Given the description of an element on the screen output the (x, y) to click on. 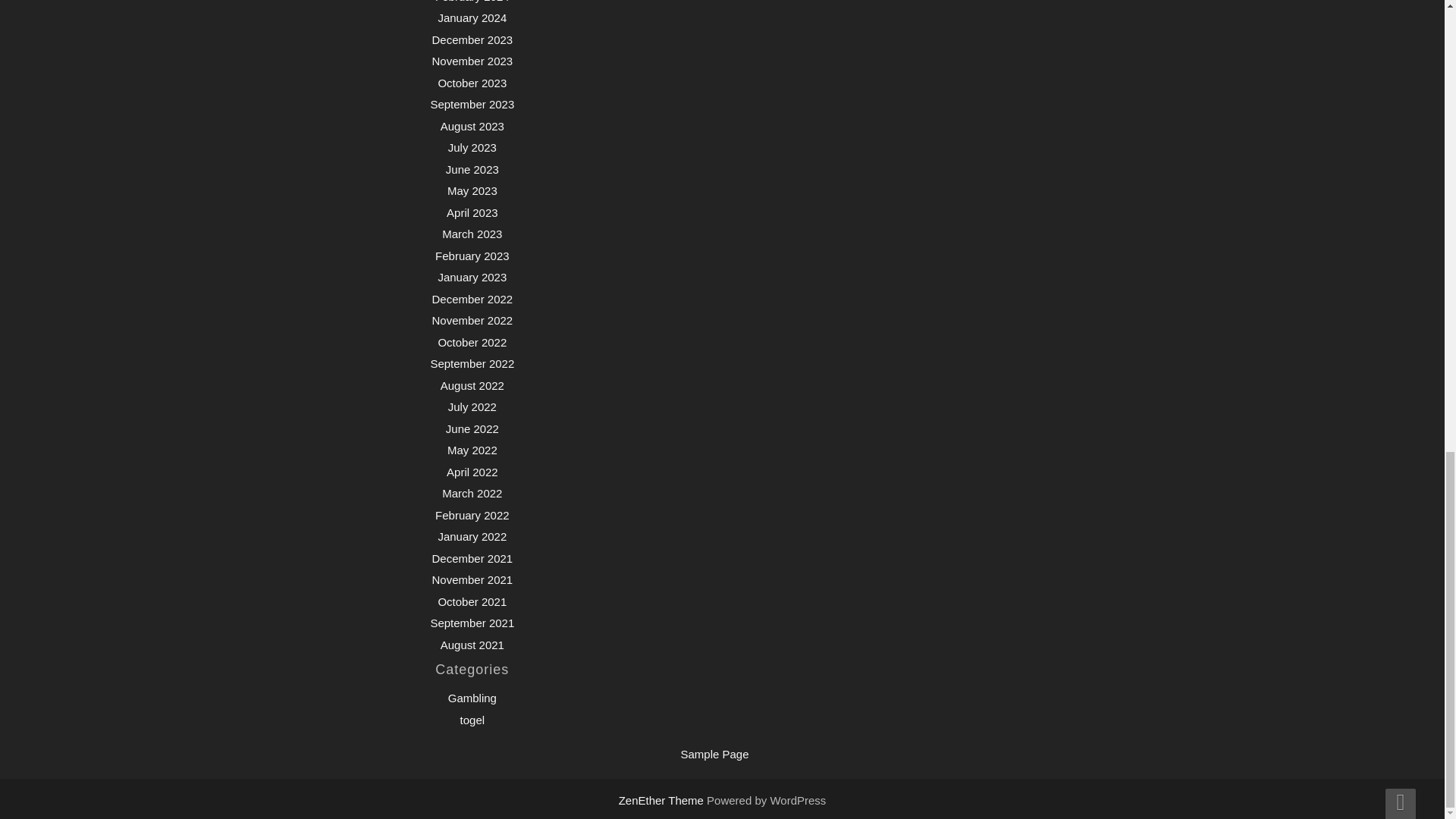
December 2023 (471, 39)
January 2024 (472, 17)
September 2023 (471, 103)
August 2023 (472, 125)
December 2022 (471, 298)
ZenEther Theme (662, 799)
October 2023 (472, 82)
July 2022 (472, 406)
October 2022 (472, 341)
May 2023 (471, 190)
April 2023 (471, 212)
February 2023 (472, 255)
August 2022 (472, 385)
September 2022 (471, 363)
January 2023 (472, 277)
